Given the description of an element on the screen output the (x, y) to click on. 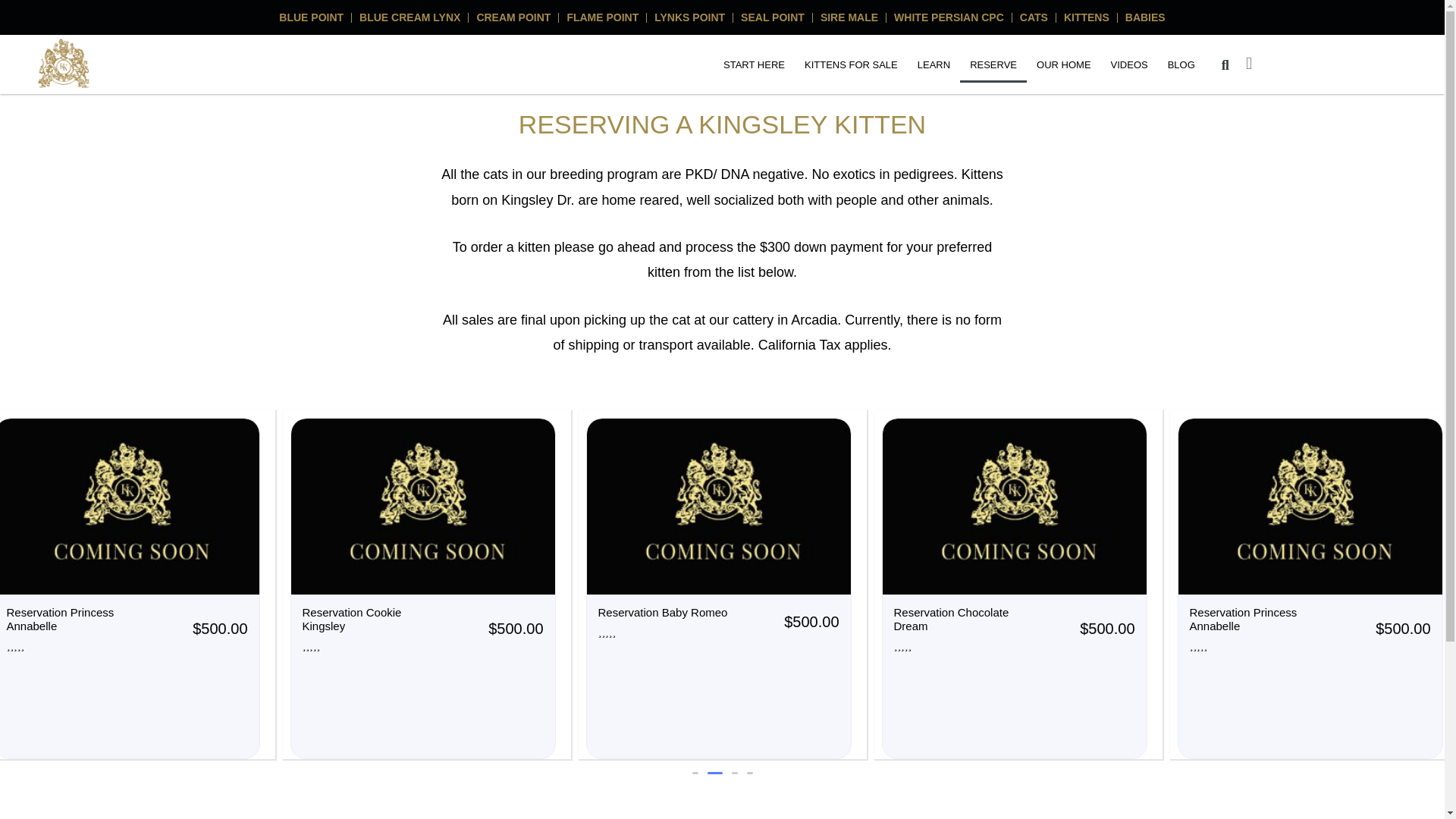
FLAME POINT (602, 17)
BLUE POINT (310, 17)
CATS (1033, 17)
CREAM POINT (512, 17)
LYNKS POINT (689, 17)
KITTENS (1086, 17)
SEAL POINT (772, 17)
SIRE MALE (848, 17)
BABIES (1145, 17)
BLUE CREAM LYNX (409, 17)
WHITE PERSIAN CPC (948, 17)
